Given the description of an element on the screen output the (x, y) to click on. 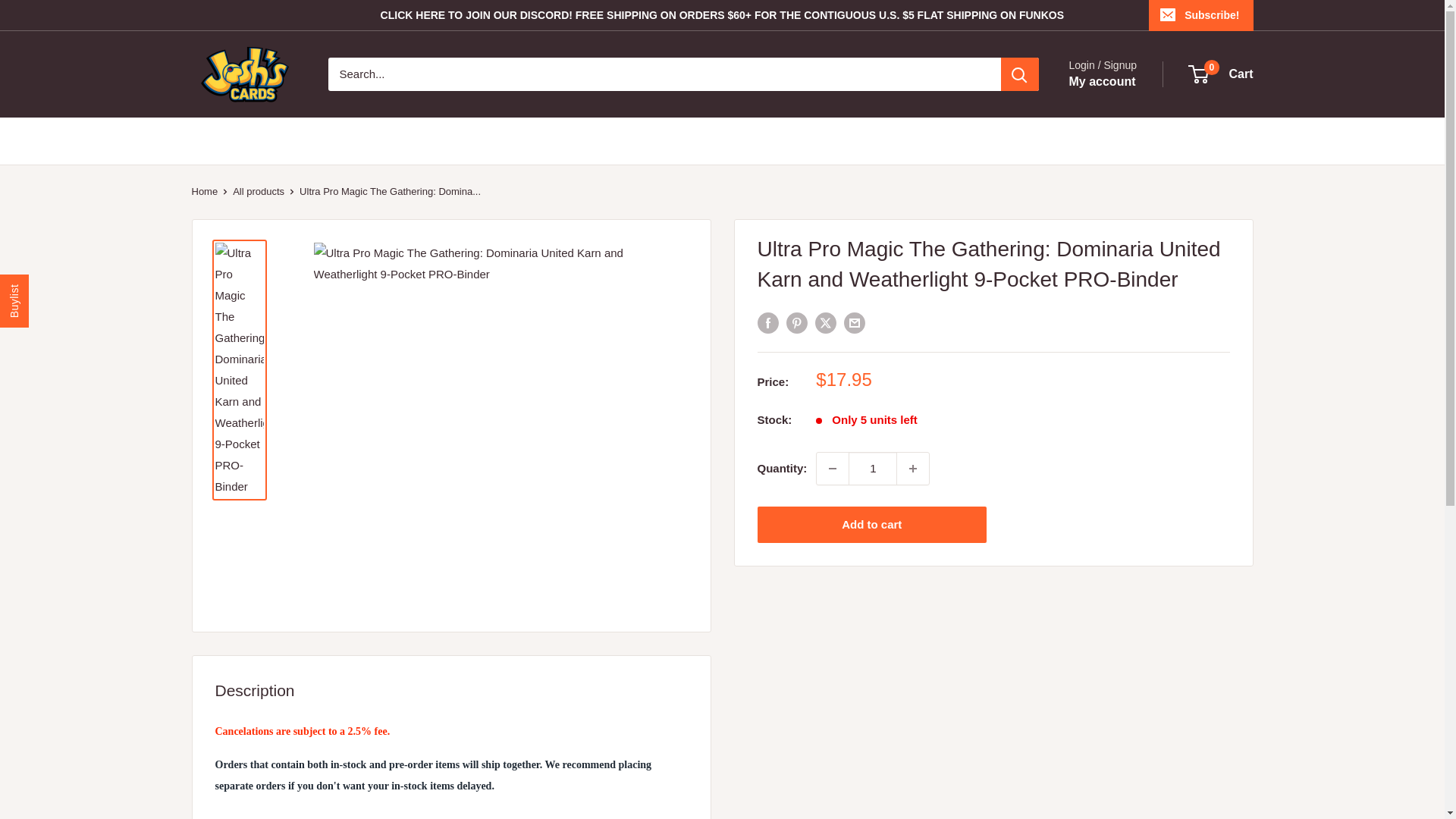
Home (203, 191)
Decrease quantity by 1 (832, 468)
1 (872, 468)
Subscribe! (1200, 15)
All products (257, 191)
Add to cart (872, 524)
Buylist (26, 288)
My account (1101, 81)
Increase quantity by 1 (1220, 74)
Josh's Cards (912, 468)
